Given the description of an element on the screen output the (x, y) to click on. 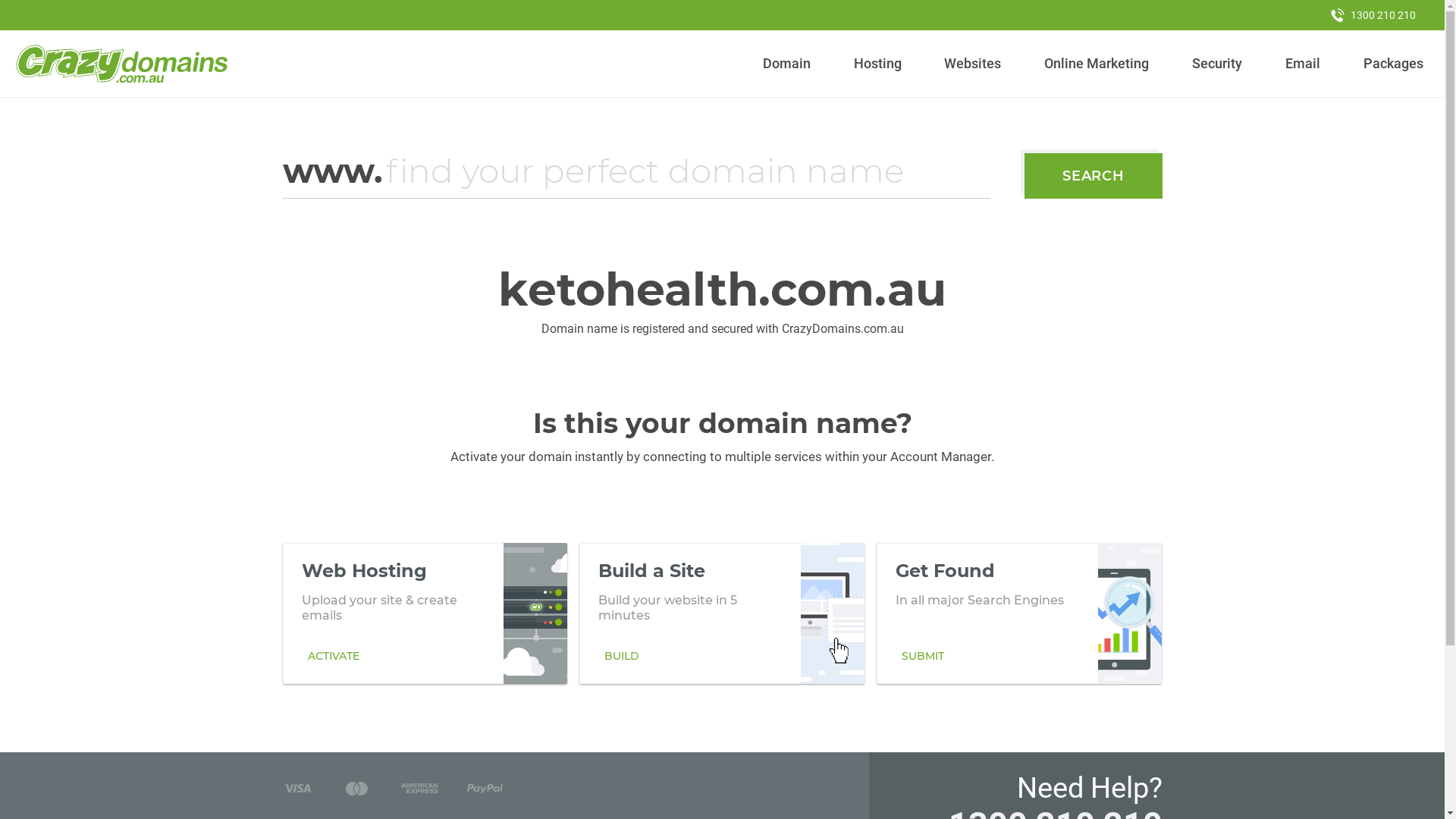
Packages Element type: text (1392, 63)
Domain Element type: text (786, 63)
Web Hosting
Upload your site & create emails
ACTIVATE Element type: text (424, 613)
Get Found
In all major Search Engines
SUBMIT Element type: text (1018, 613)
Websites Element type: text (972, 63)
Email Element type: text (1302, 63)
Online Marketing Element type: text (1096, 63)
Hosting Element type: text (877, 63)
1300 210 210 Element type: text (1373, 15)
Build a Site
Build your website in 5 minutes
BUILD Element type: text (721, 613)
SEARCH Element type: text (1092, 175)
Security Element type: text (1217, 63)
